Given the description of an element on the screen output the (x, y) to click on. 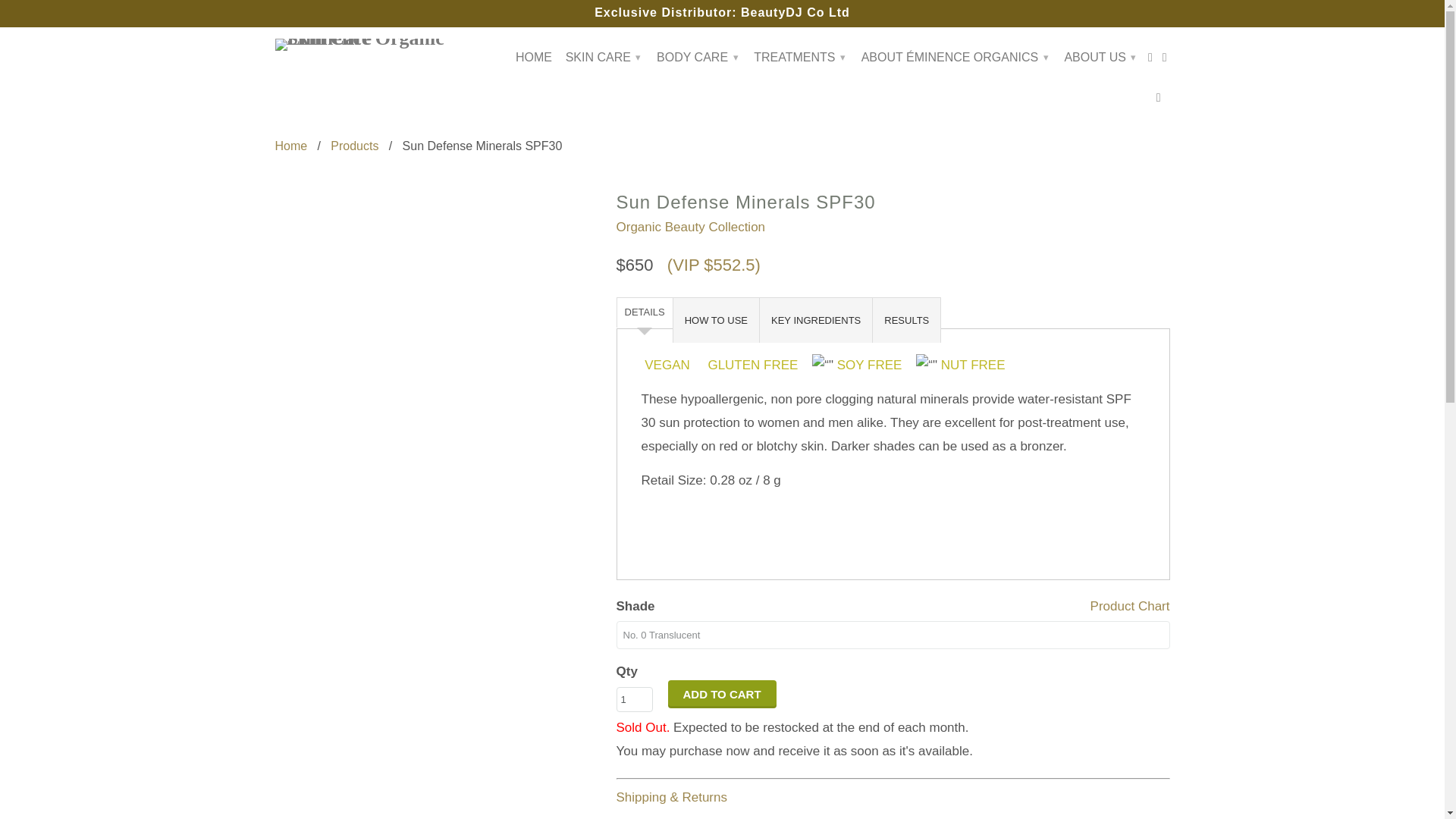
Organic Beauty Collection (690, 227)
Products (354, 145)
1 (633, 699)
